Given the description of an element on the screen output the (x, y) to click on. 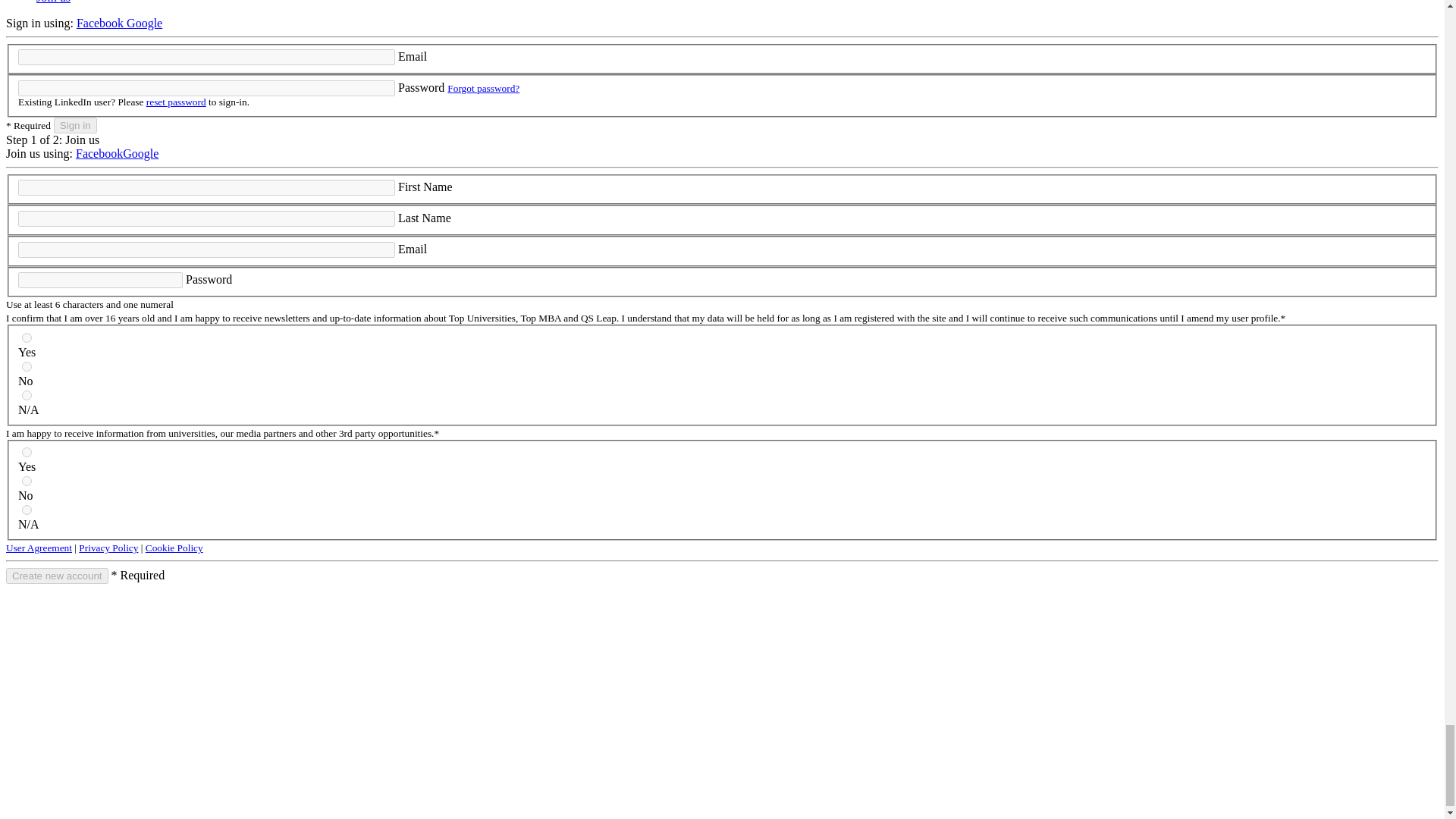
0 (26, 366)
Sign in (75, 125)
1 (26, 337)
1 (26, 452)
